Given the description of an element on the screen output the (x, y) to click on. 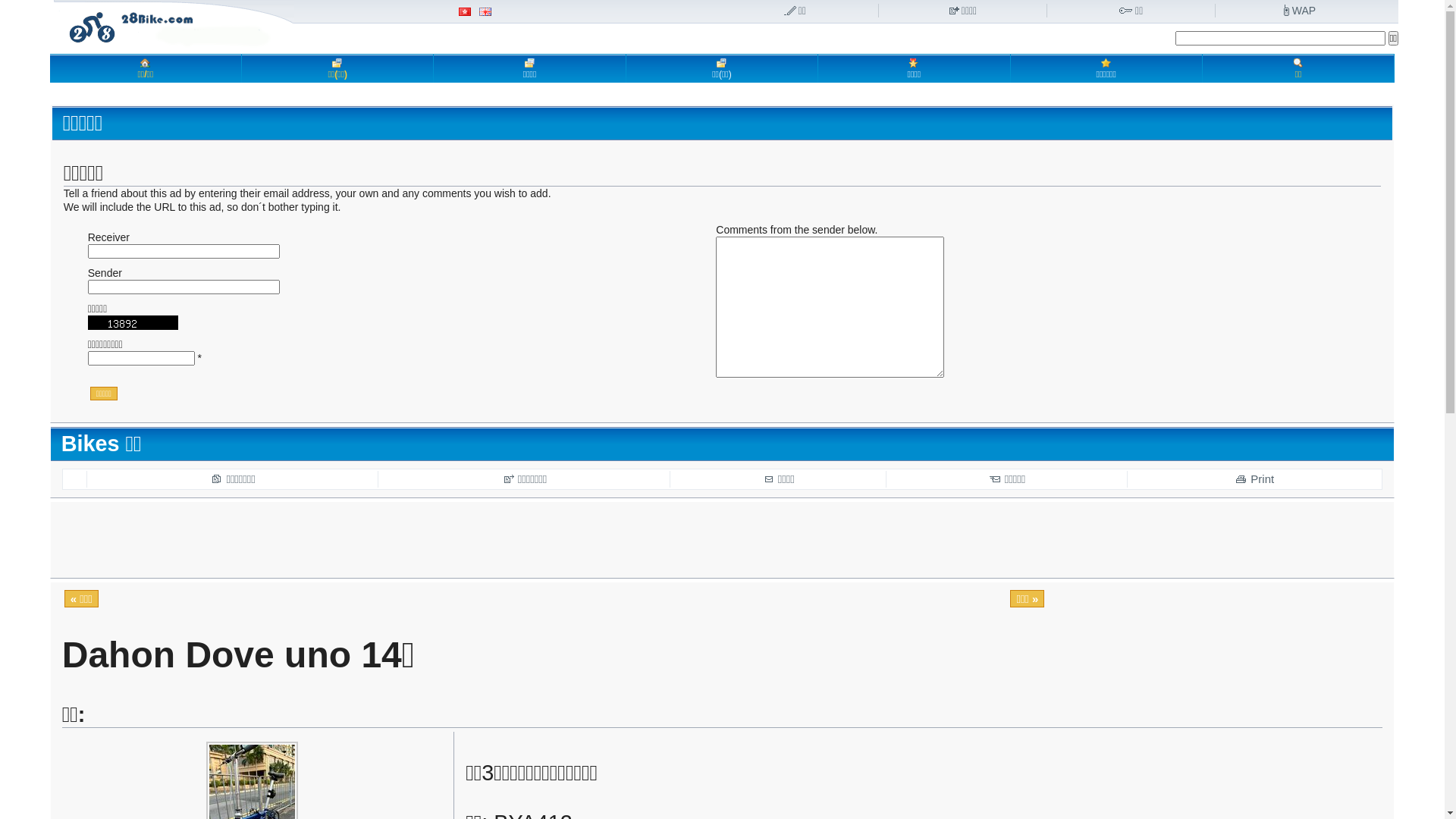
Print Element type: text (1254, 478)
28Bike Classifieds Element type: hover (173, 25)
English Element type: hover (485, 11)
WAP Element type: text (1299, 10)
